Given the description of an element on the screen output the (x, y) to click on. 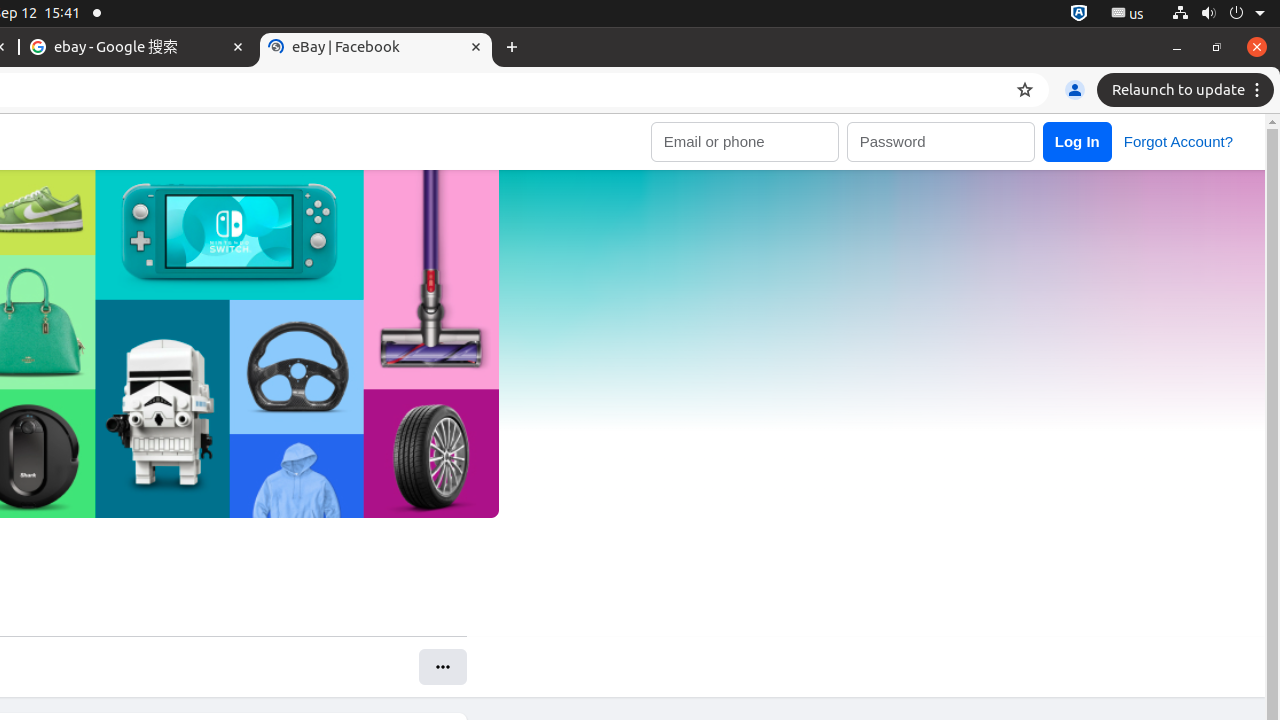
:1.21/StatusNotifierItem Element type: menu (1127, 13)
